Given the description of an element on the screen output the (x, y) to click on. 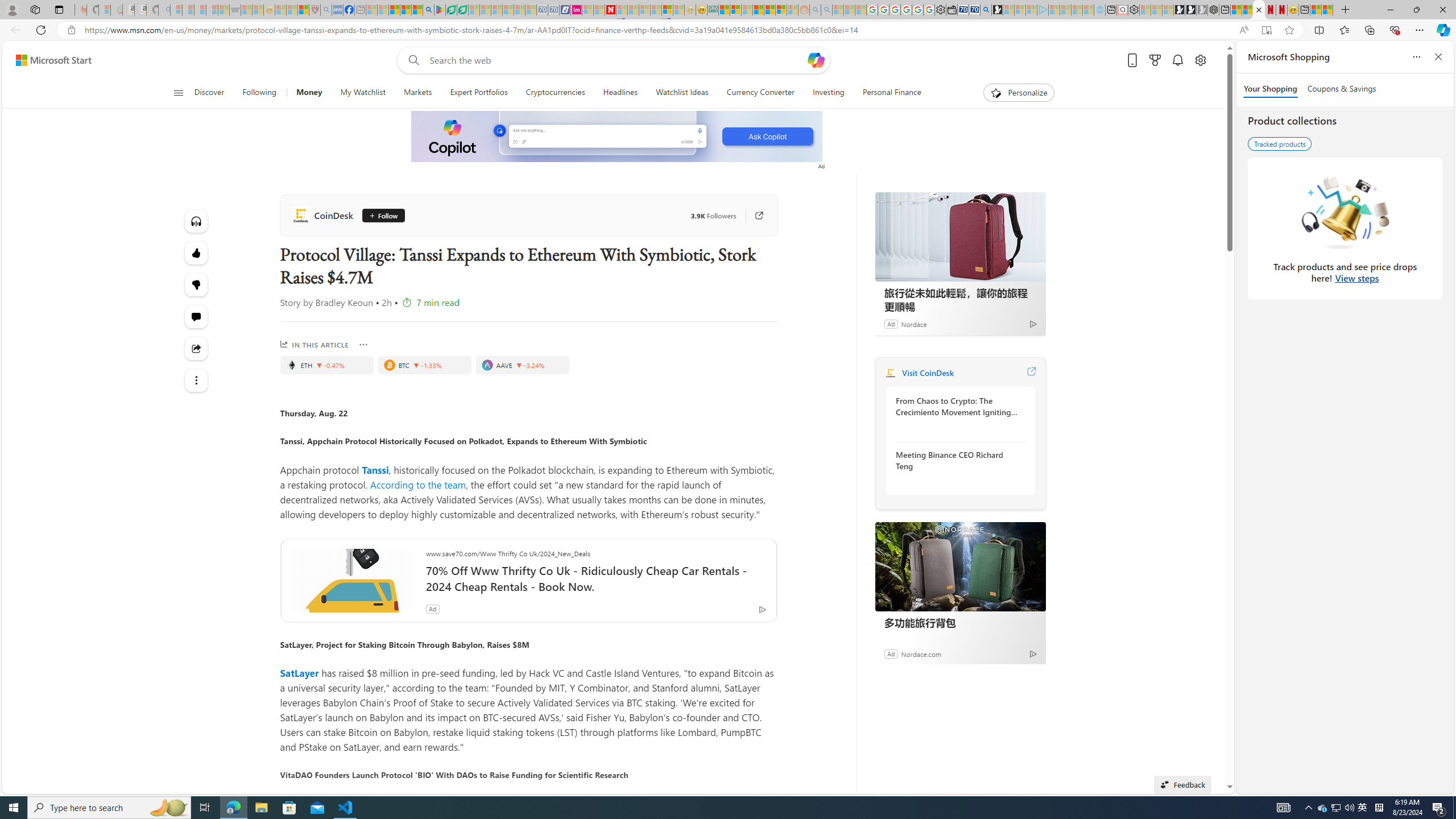
Watchlist Ideas (681, 92)
